Given the description of an element on the screen output the (x, y) to click on. 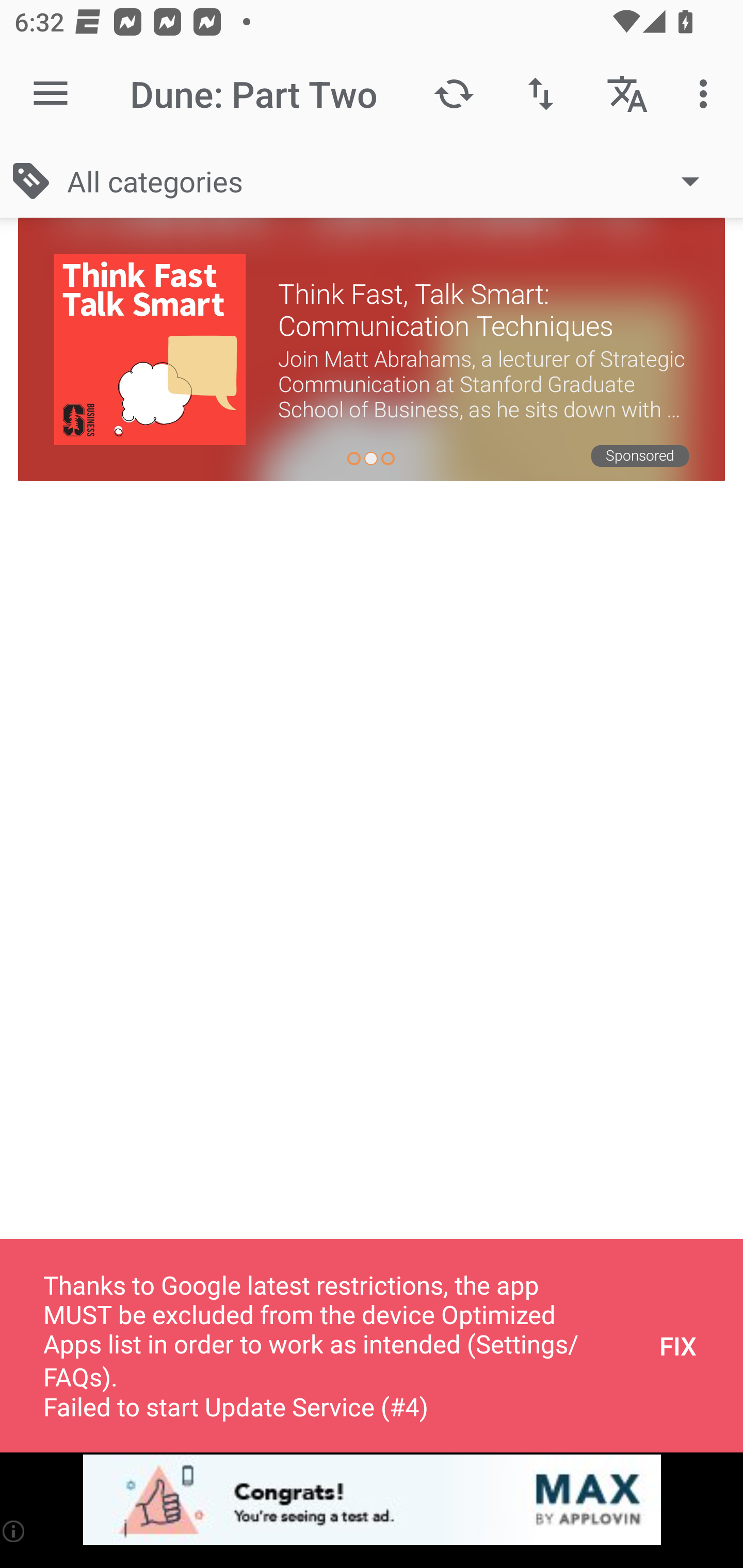
Open navigation sidebar (50, 93)
Update top podcasts list (453, 93)
Sort (540, 93)
Podcast languages (626, 93)
More options (706, 93)
All categories (393, 180)
FIX (677, 1346)
app-monetization (371, 1500)
(i) (14, 1531)
